Given the description of an element on the screen output the (x, y) to click on. 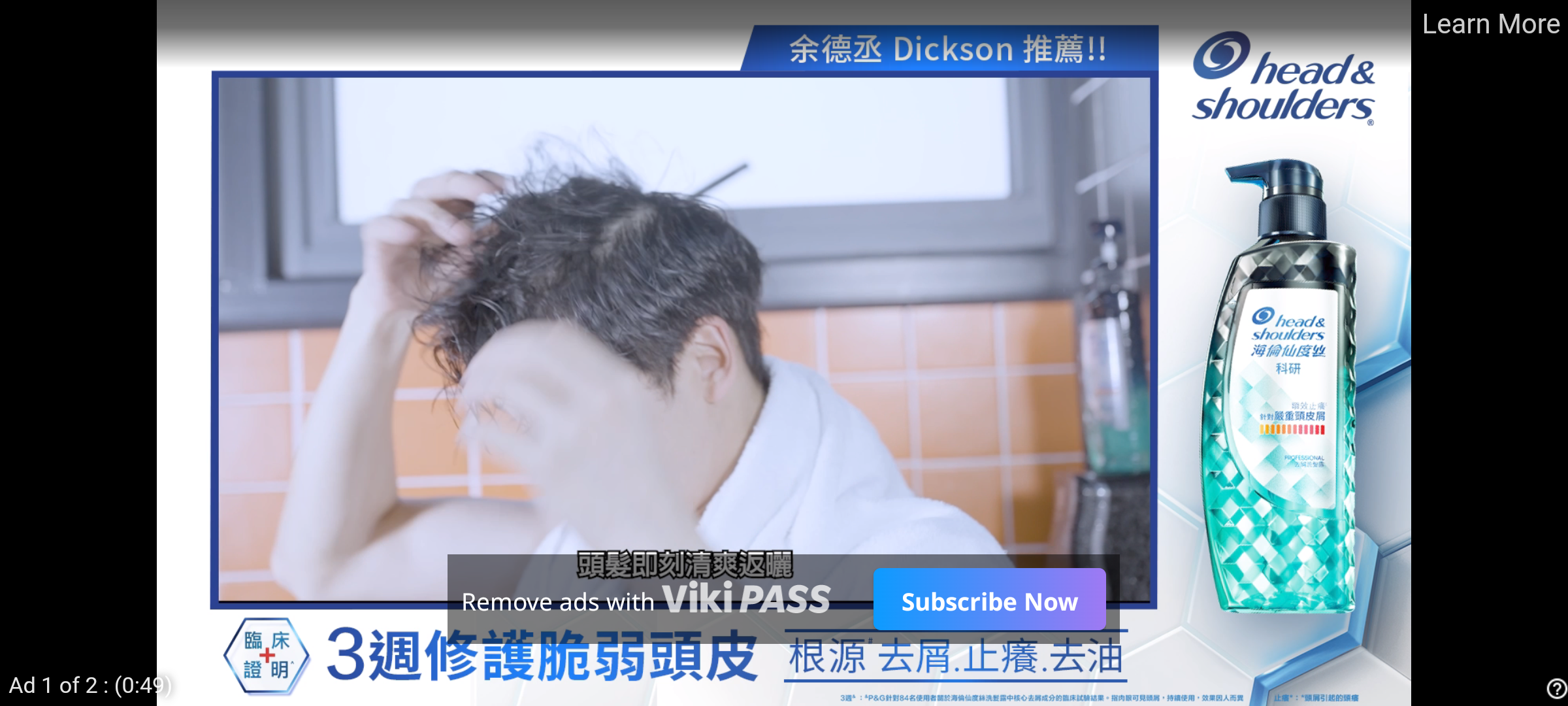
Learn More (1490, 24)
Subscribe Now (989, 599)
Ad 1 of 2 : (0:49) (90, 684)
help_outline_white_24dp_with_3px_trbl_padding (1553, 688)
